Given the description of an element on the screen output the (x, y) to click on. 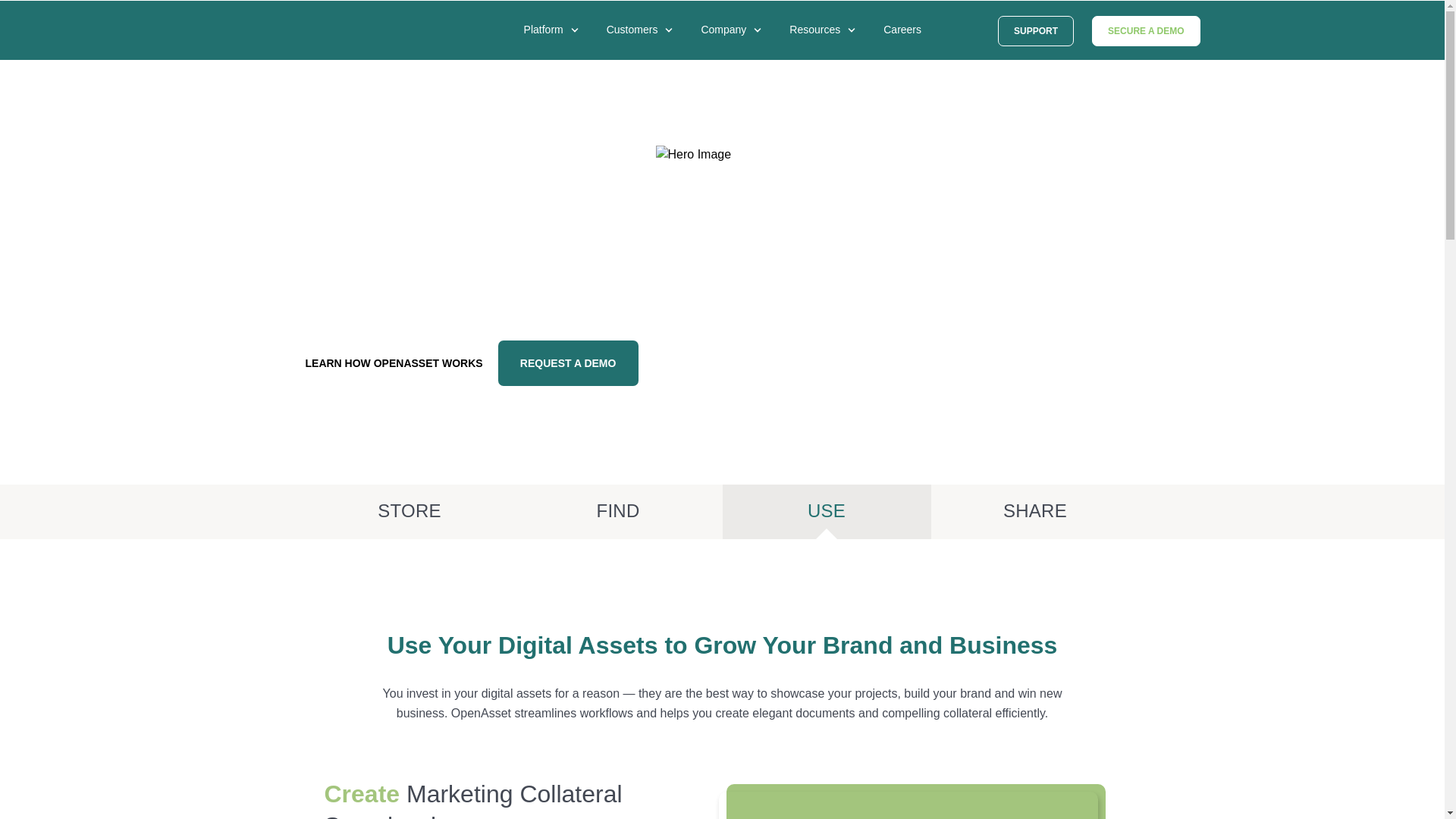
Careers (913, 42)
Customers (644, 43)
Platform (555, 43)
Customers (644, 43)
OpenAsset (320, 33)
REQUEST A DEMO (568, 362)
FIND (617, 511)
LEARN HOW OPENASSET WORKS (392, 362)
STORE (408, 511)
USE (826, 511)
